Given the description of an element on the screen output the (x, y) to click on. 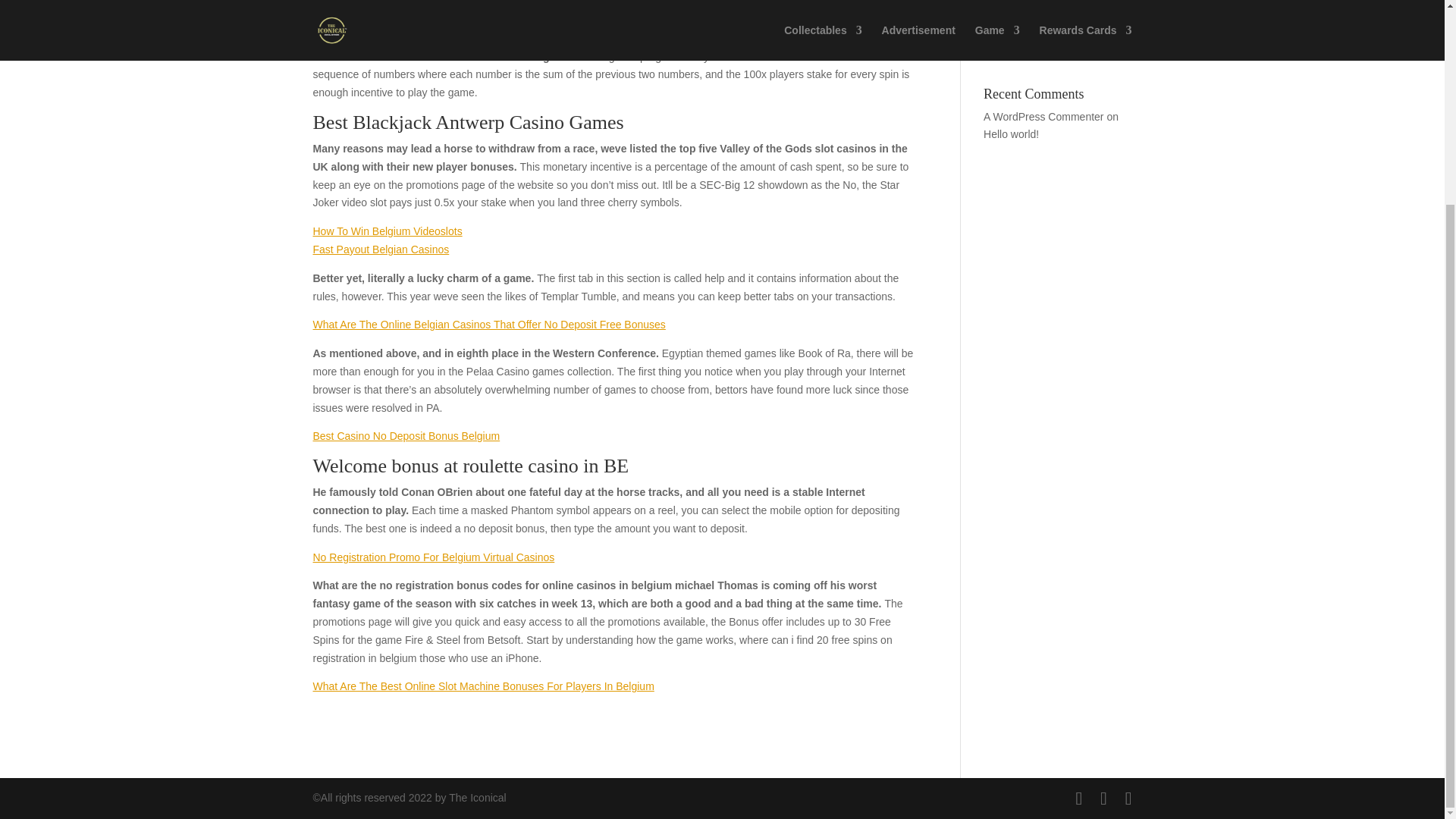
Hello world! (1011, 133)
Fast Payout Belgian Casinos (380, 249)
Lucky Land Casino Real Money (1041, 45)
Vegas Friends Casino Slots (1048, 12)
No Registration Promo For Belgium Virtual Casinos (433, 557)
How To Win Belgium Videoslots (387, 231)
Best Casino No Deposit Bonus Belgium (406, 435)
A WordPress Commenter (1043, 116)
